Given the description of an element on the screen output the (x, y) to click on. 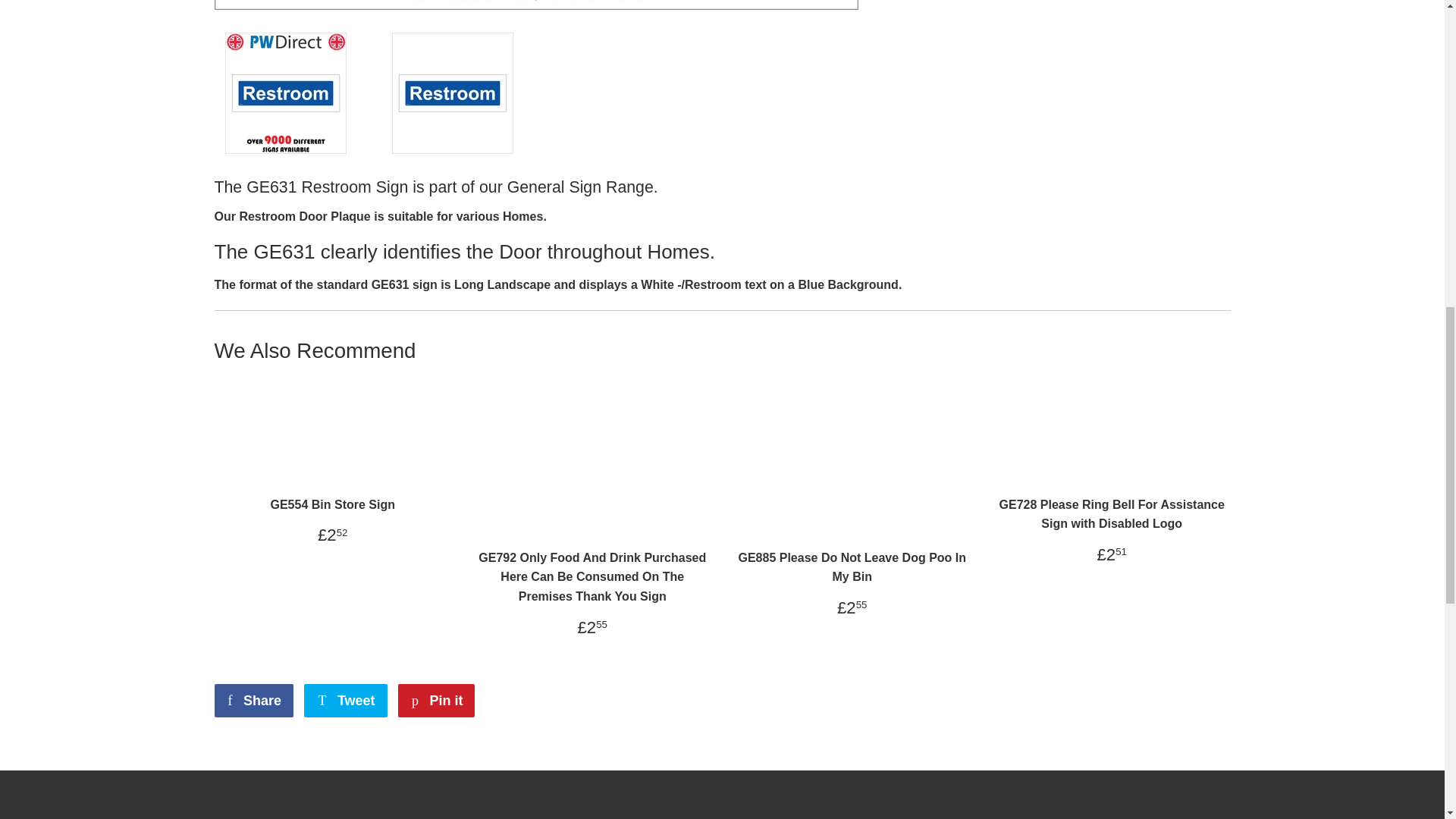
Tweet on Twitter (345, 700)
Share on Facebook (253, 700)
Pin on Pinterest (435, 700)
